Given the description of an element on the screen output the (x, y) to click on. 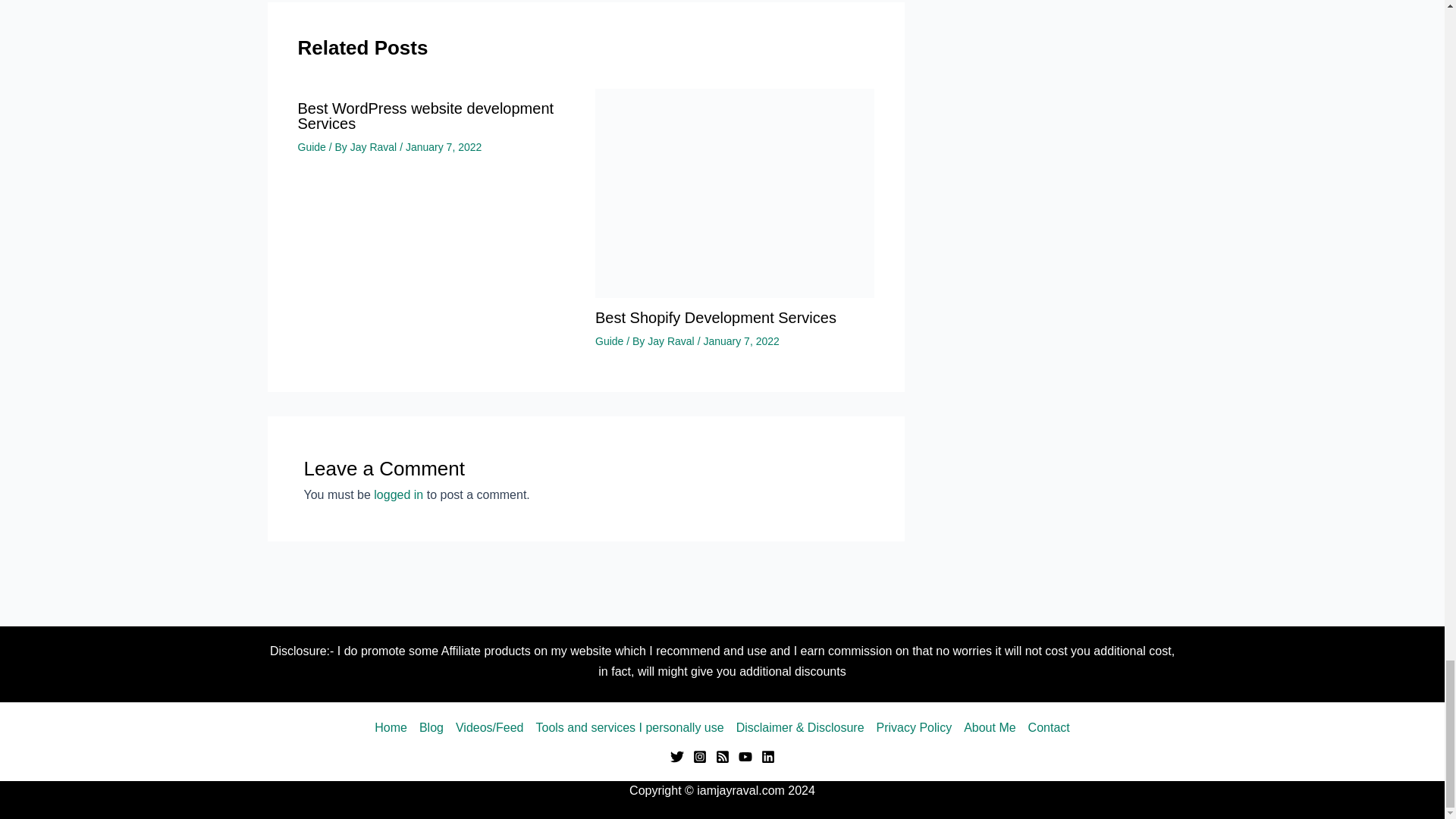
View all posts by Jay Raval (374, 146)
Best Shopify Development Services (735, 193)
View all posts by Jay Raval (672, 340)
